Given the description of an element on the screen output the (x, y) to click on. 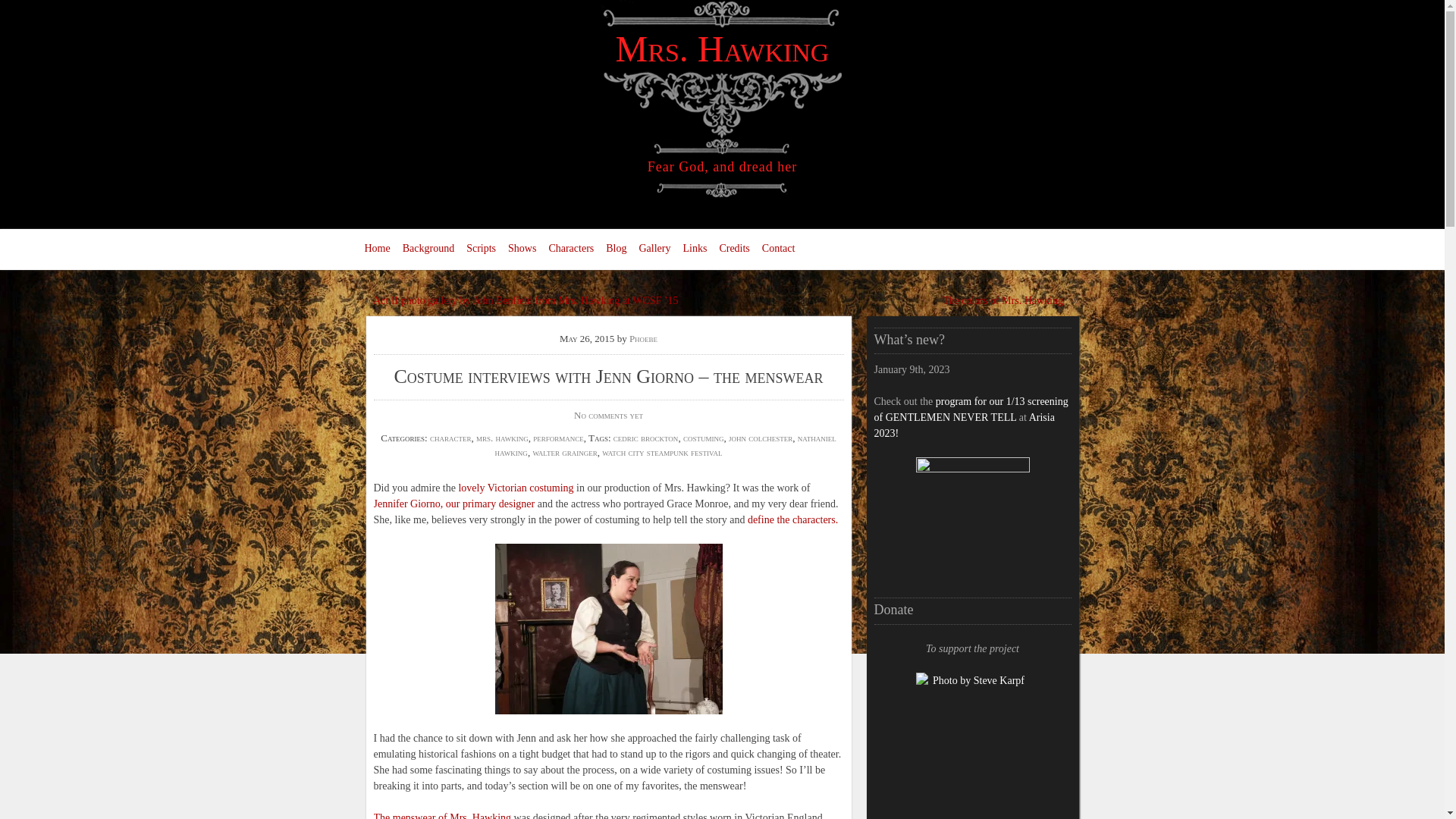
Contact (778, 249)
character (450, 437)
View all posts by Phoebe (643, 337)
Characters (570, 249)
Home (377, 249)
Scripts (481, 249)
Links (695, 249)
define the characters. (793, 519)
The menswear of Mrs. Hawking (441, 815)
watch city steampunk festival (662, 451)
